Given the description of an element on the screen output the (x, y) to click on. 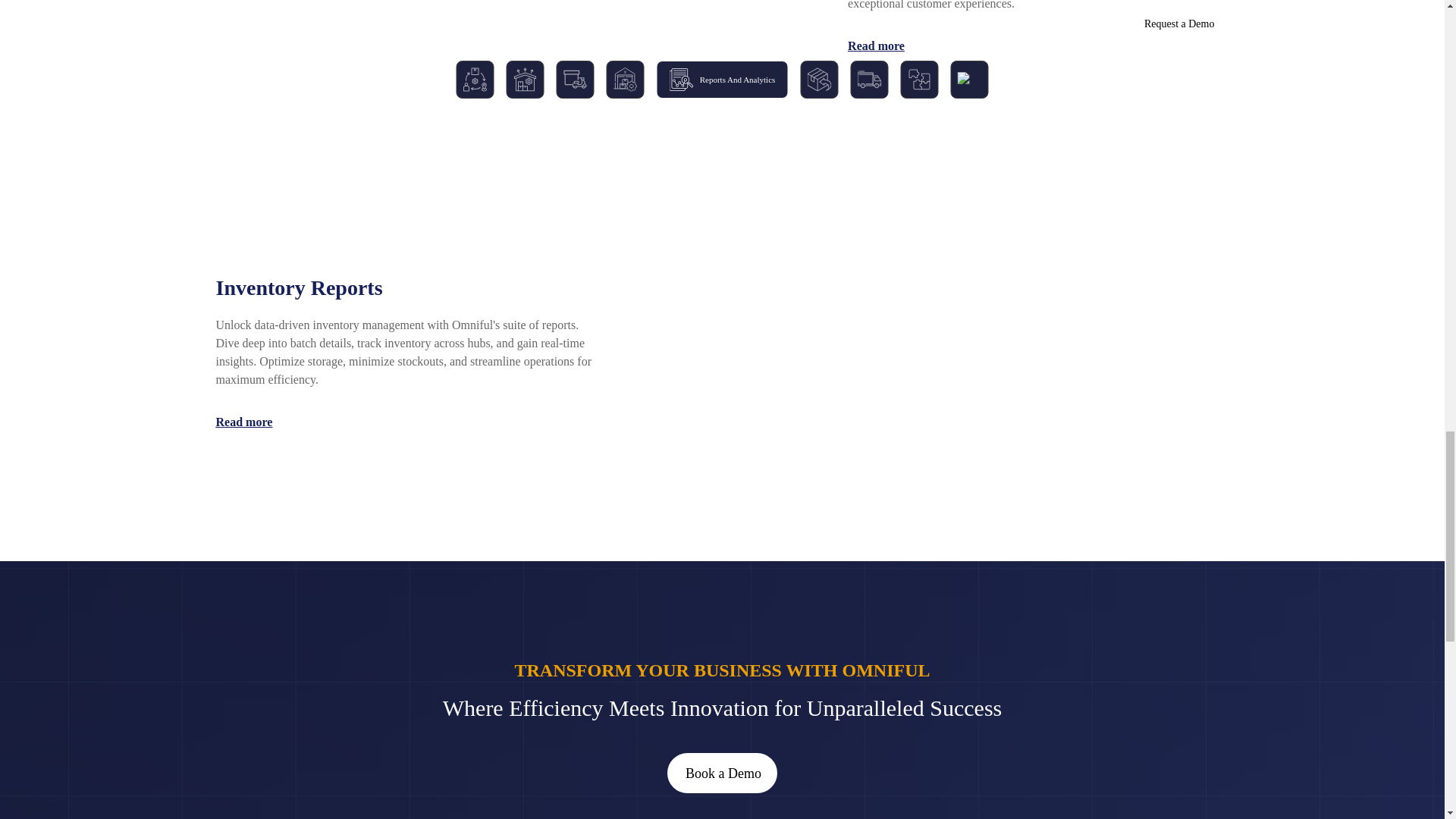
Book a Demo (721, 773)
Read more (875, 45)
Book a Demo (721, 772)
Read more (243, 421)
